Given the description of an element on the screen output the (x, y) to click on. 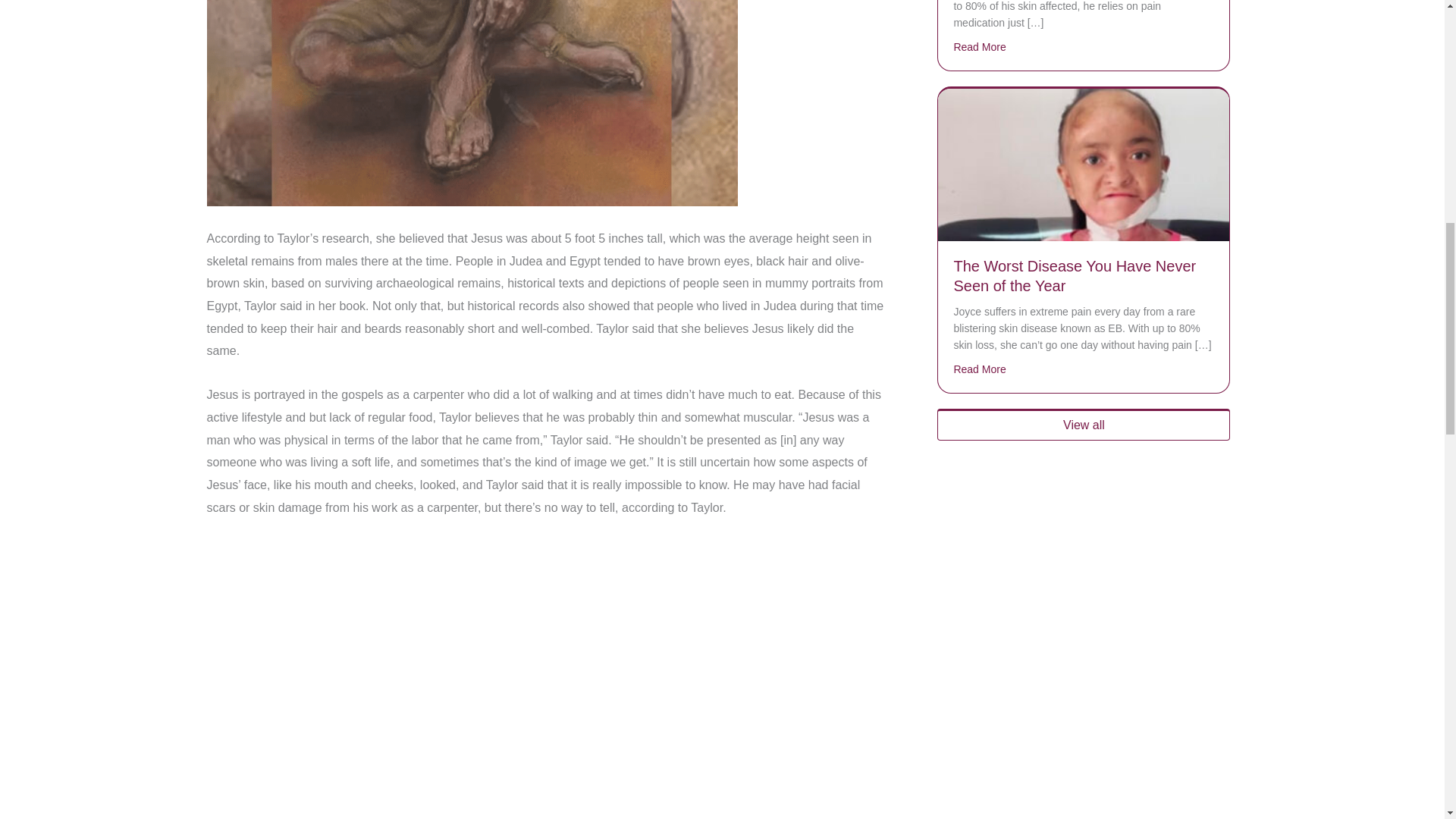
The Worst Disease You Have Never Seen of the Year (1082, 164)
Read More (979, 369)
View all (1083, 424)
Read More (979, 46)
The Worst Disease You Have Never Seen of the Year (1074, 275)
